Given the description of an element on the screen output the (x, y) to click on. 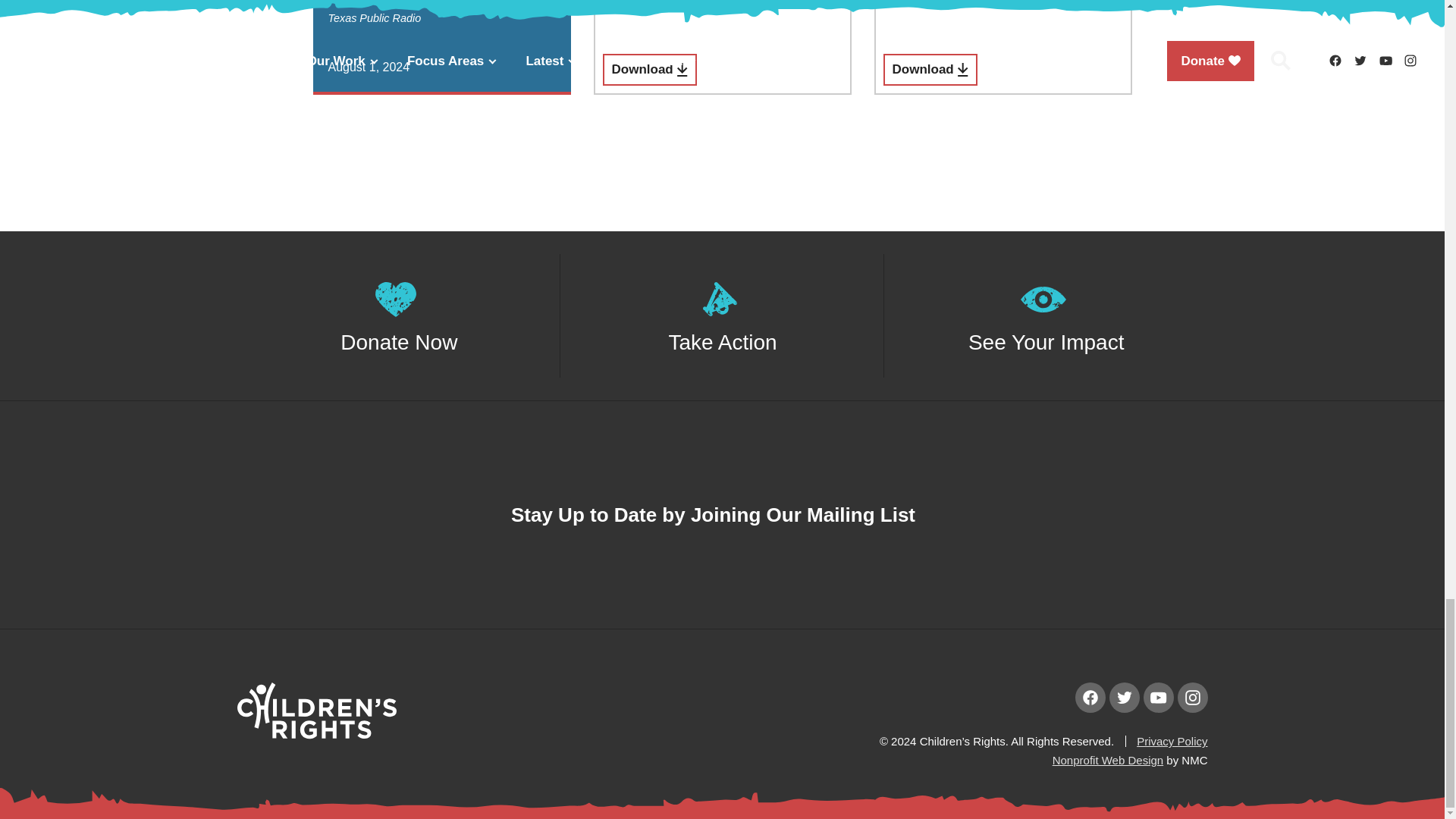
homepage (315, 734)
